Given the description of an element on the screen output the (x, y) to click on. 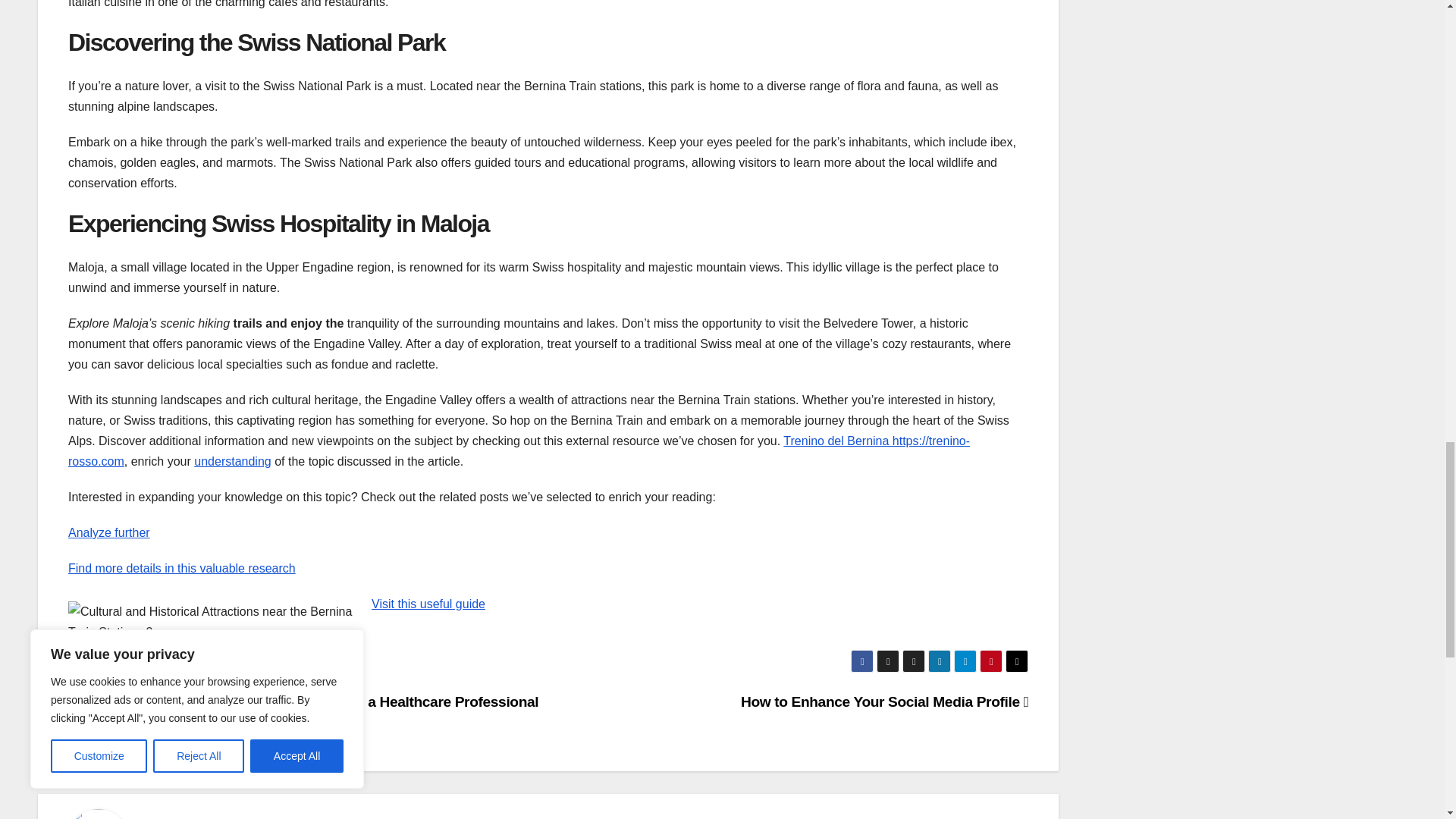
understanding (231, 461)
Find more details in this valuable research (181, 567)
Analyze further (108, 532)
Visit this useful guide (427, 603)
